Given the description of an element on the screen output the (x, y) to click on. 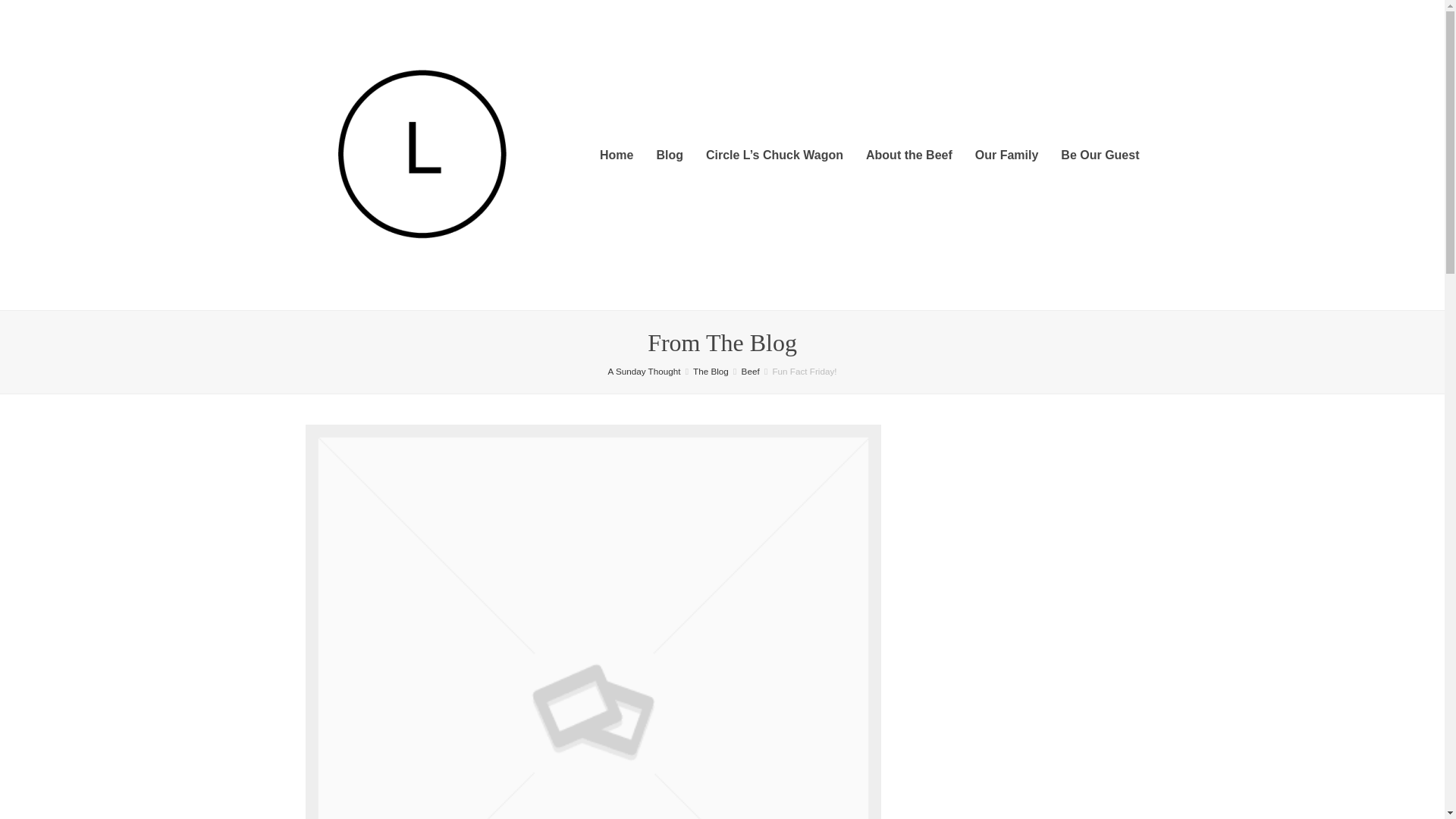
Home (616, 155)
Blog (669, 155)
The Blog (711, 370)
Our Family (1006, 155)
A Sunday Thought (643, 370)
About the Beef (908, 155)
Beef (750, 370)
Be Our Guest (1099, 155)
Beef (750, 370)
The Circle L Ranch (643, 370)
The Circle L Ranch (422, 153)
The Blog (711, 370)
